Given the description of an element on the screen output the (x, y) to click on. 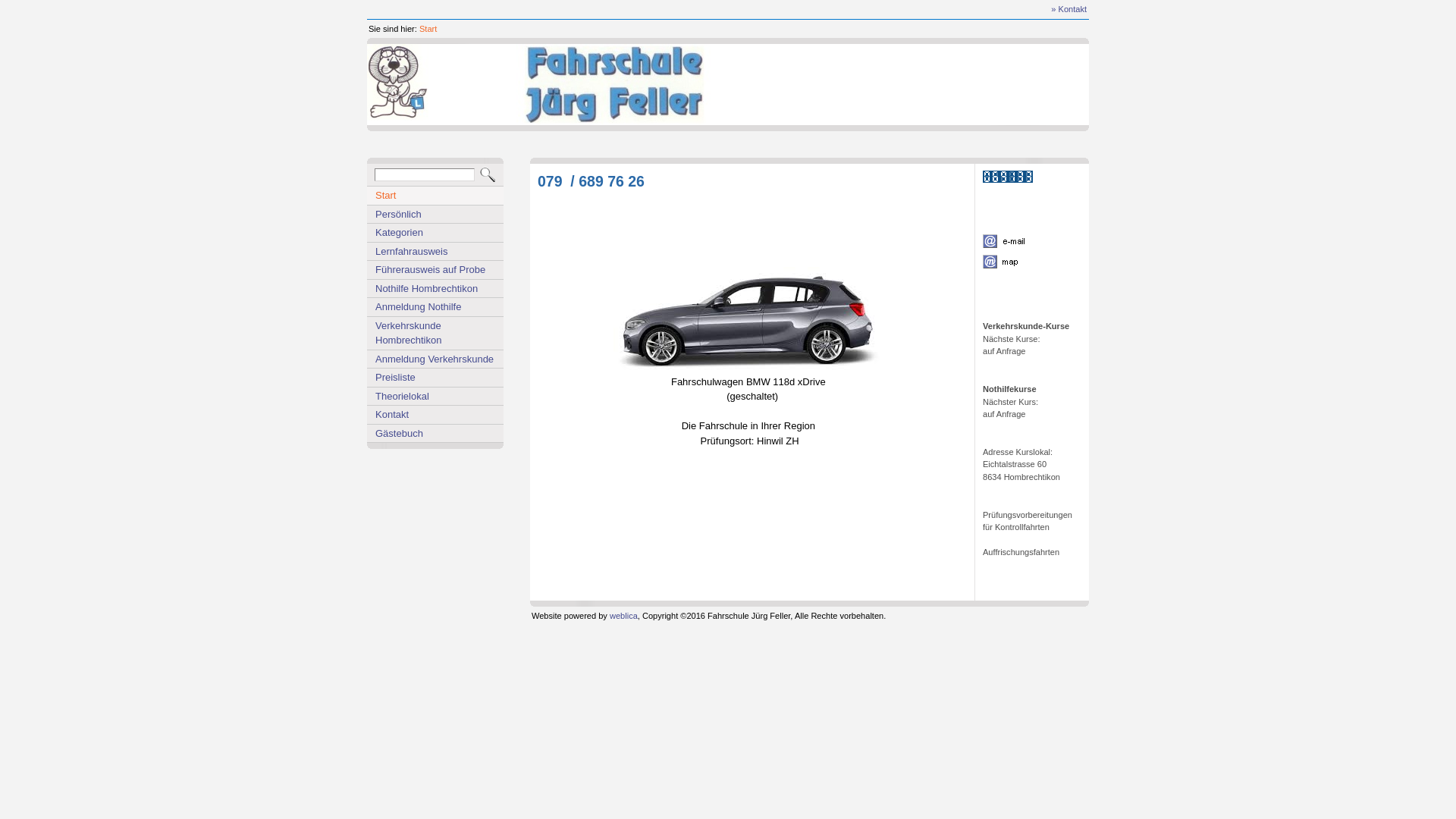
 pics 15 map Element type: hover (1009, 261)
Link E-Mail Element type: hover (1016, 240)
Kontakt Element type: text (434, 414)
Verkehrskunde Hombrechtikon Element type: text (434, 332)
Ihr Logo hier Element type: hover (397, 81)
Start Element type: text (434, 195)
Kategorien Element type: text (434, 232)
Panorama Element type: hover (802, 84)
Nothilfe Hombrechtikon Element type: text (434, 288)
weblica Element type: text (623, 615)
Anmeldung Nothilfe Element type: text (434, 307)
Theorielokal Element type: text (434, 396)
Lernfahrausweis Element type: text (434, 251)
Start Element type: text (427, 28)
Preisliste Element type: text (434, 377)
Anmeldung Verkehrskunde Element type: text (434, 359)
